Given the description of an element on the screen output the (x, y) to click on. 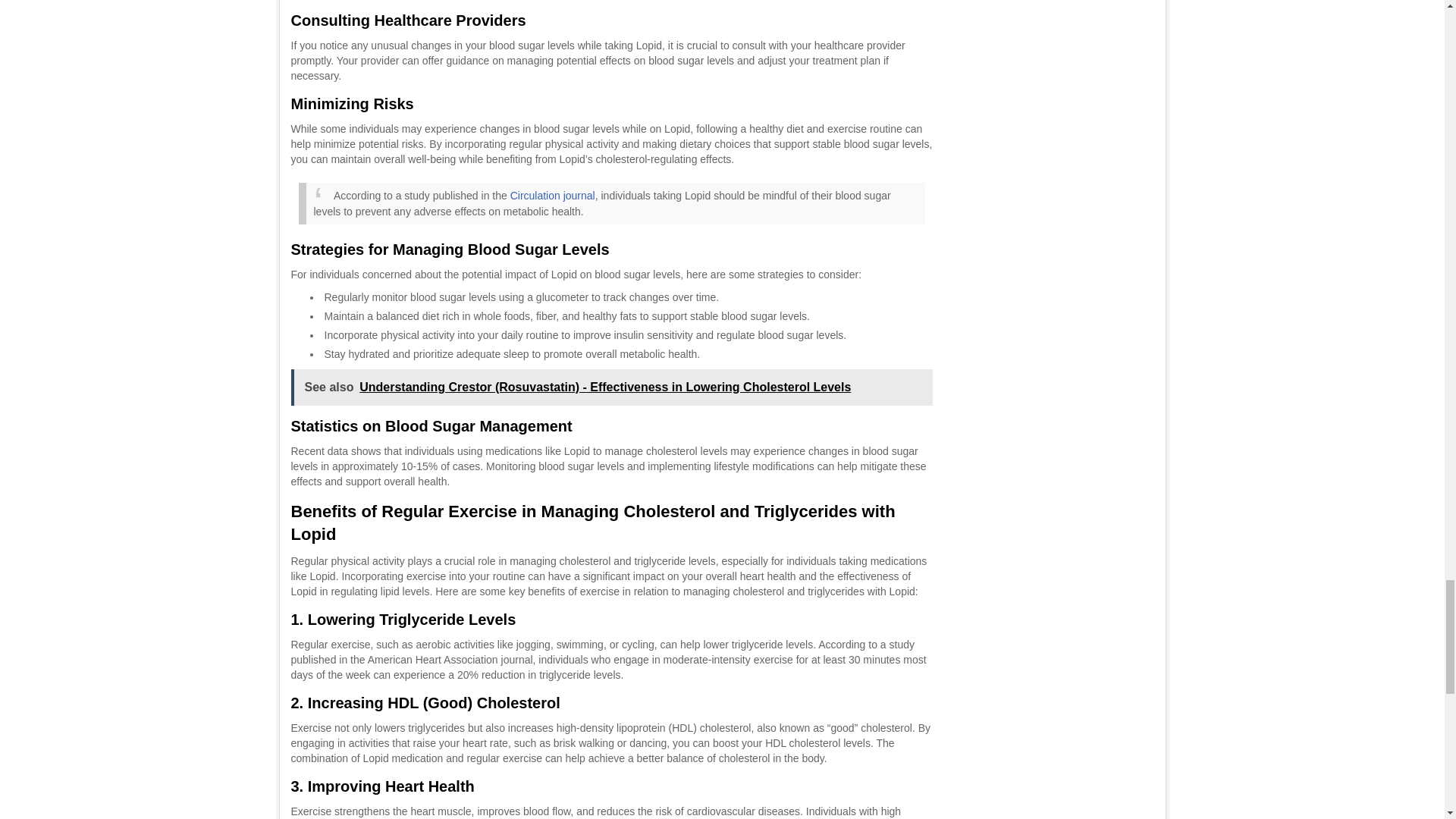
Circulation journal (553, 195)
